Given the description of an element on the screen output the (x, y) to click on. 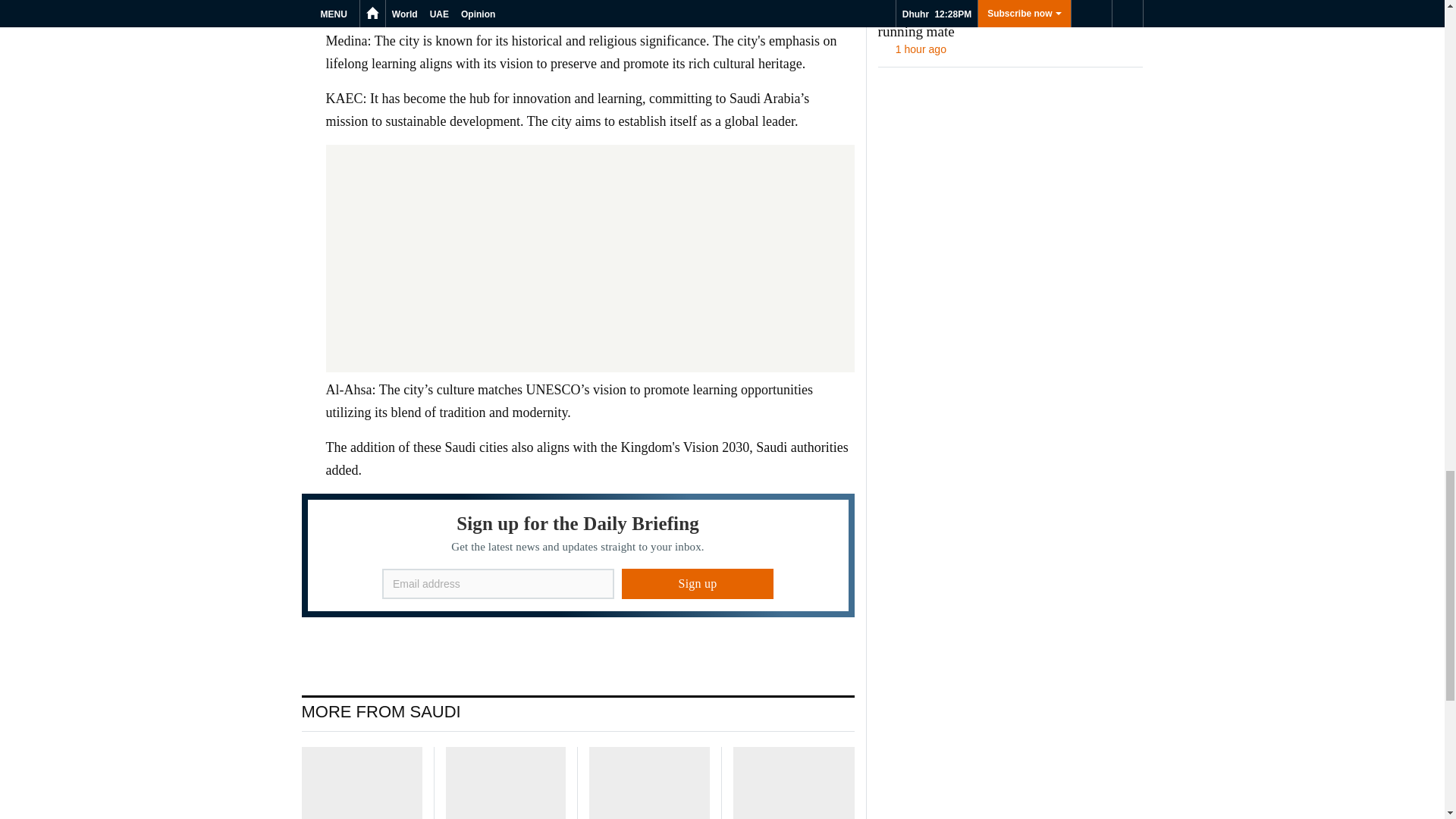
Sign up for the Daily Briefing (577, 555)
